Given the description of an element on the screen output the (x, y) to click on. 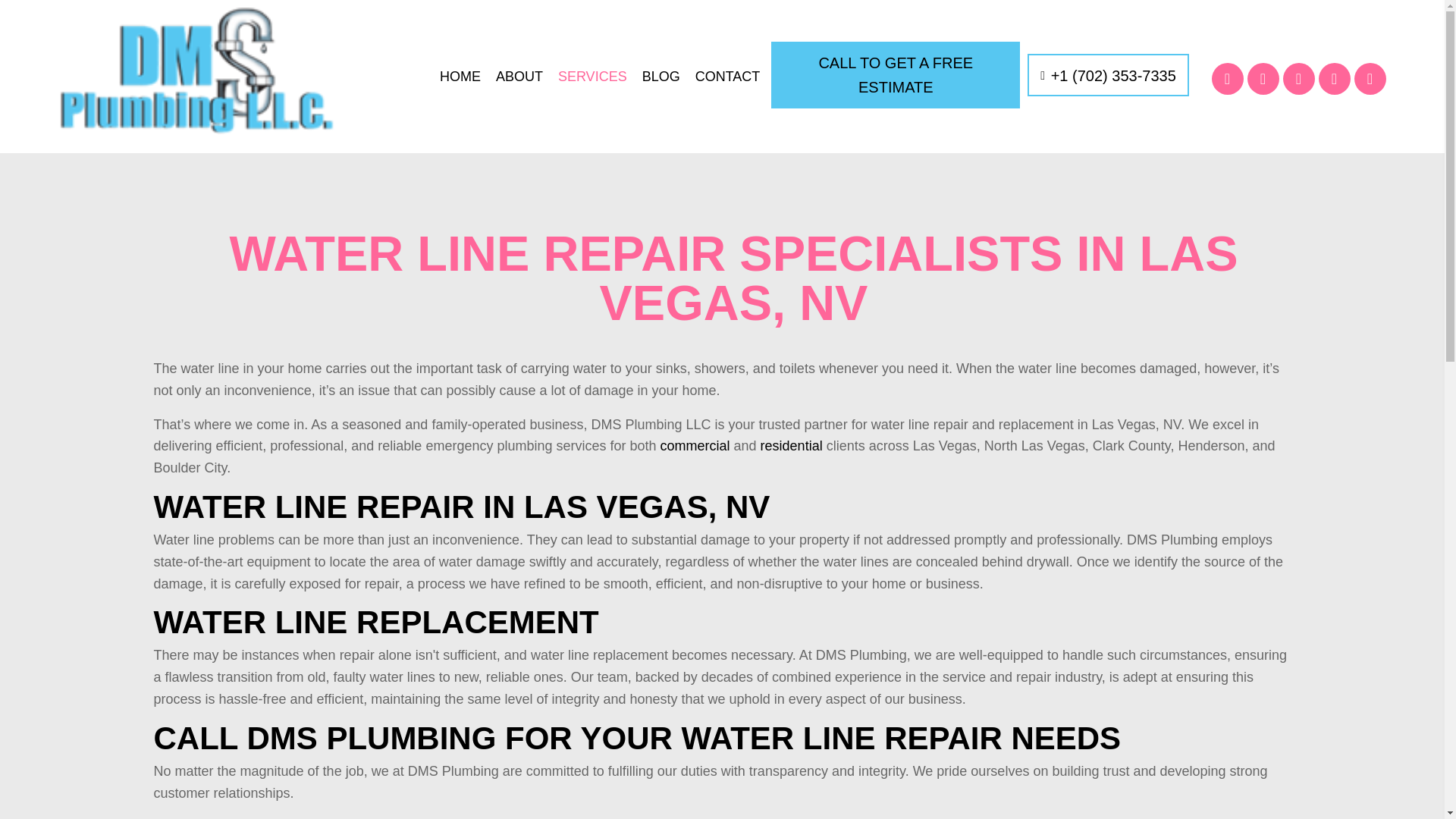
LinkedIn (1333, 79)
Facebook (1227, 79)
CONTACT (727, 76)
CALL TO GET A FREE ESTIMATE (895, 74)
DMS Plumbing, LLC. (196, 70)
Instagram (1370, 79)
BLOG (660, 76)
SERVICES (592, 76)
ABOUT (519, 76)
Twitter (1262, 79)
